Given the description of an element on the screen output the (x, y) to click on. 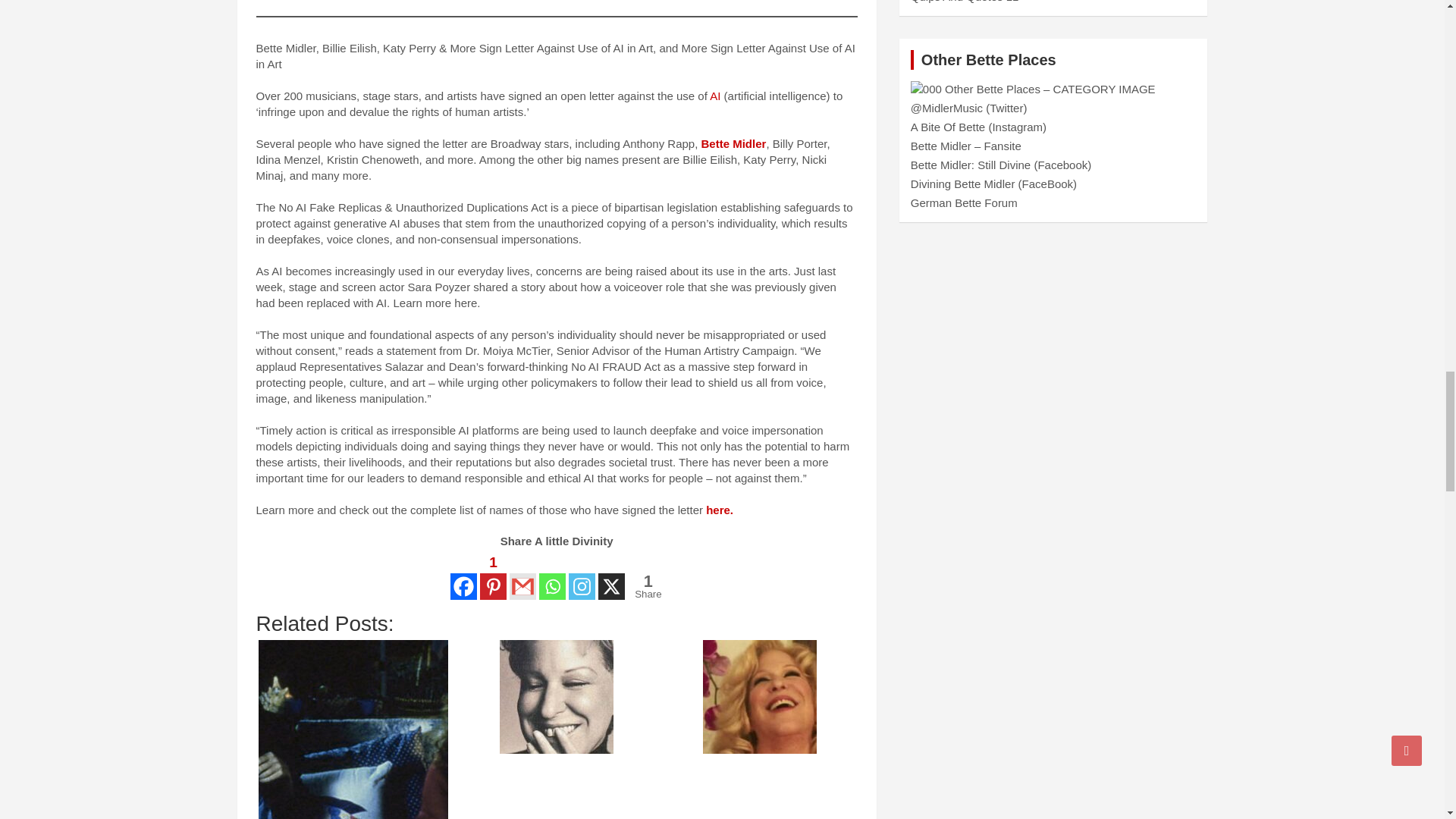
BroadwayWorld's 100 People To Follow on Twitter in 2021 (759, 696)
Every No. 1 song of the 1980s ranked (555, 696)
Total Shares (647, 586)
Billboard Data Shows Most Popular Soundtracks Of All Time (353, 729)
